Given the description of an element on the screen output the (x, y) to click on. 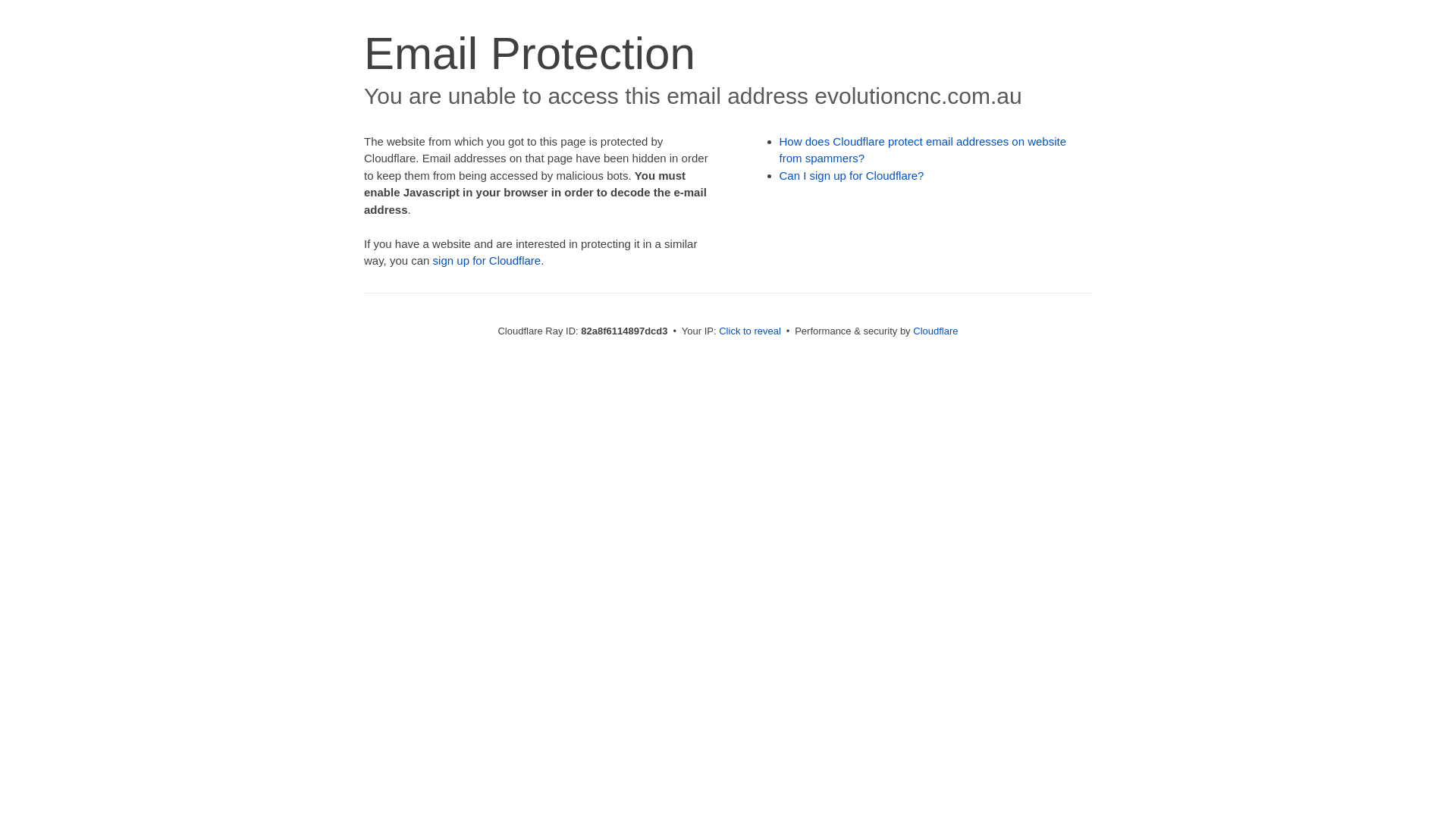
Click to reveal Element type: text (749, 330)
sign up for Cloudflare Element type: text (487, 260)
Can I sign up for Cloudflare? Element type: text (851, 175)
Cloudflare Element type: text (935, 330)
